Given the description of an element on the screen output the (x, y) to click on. 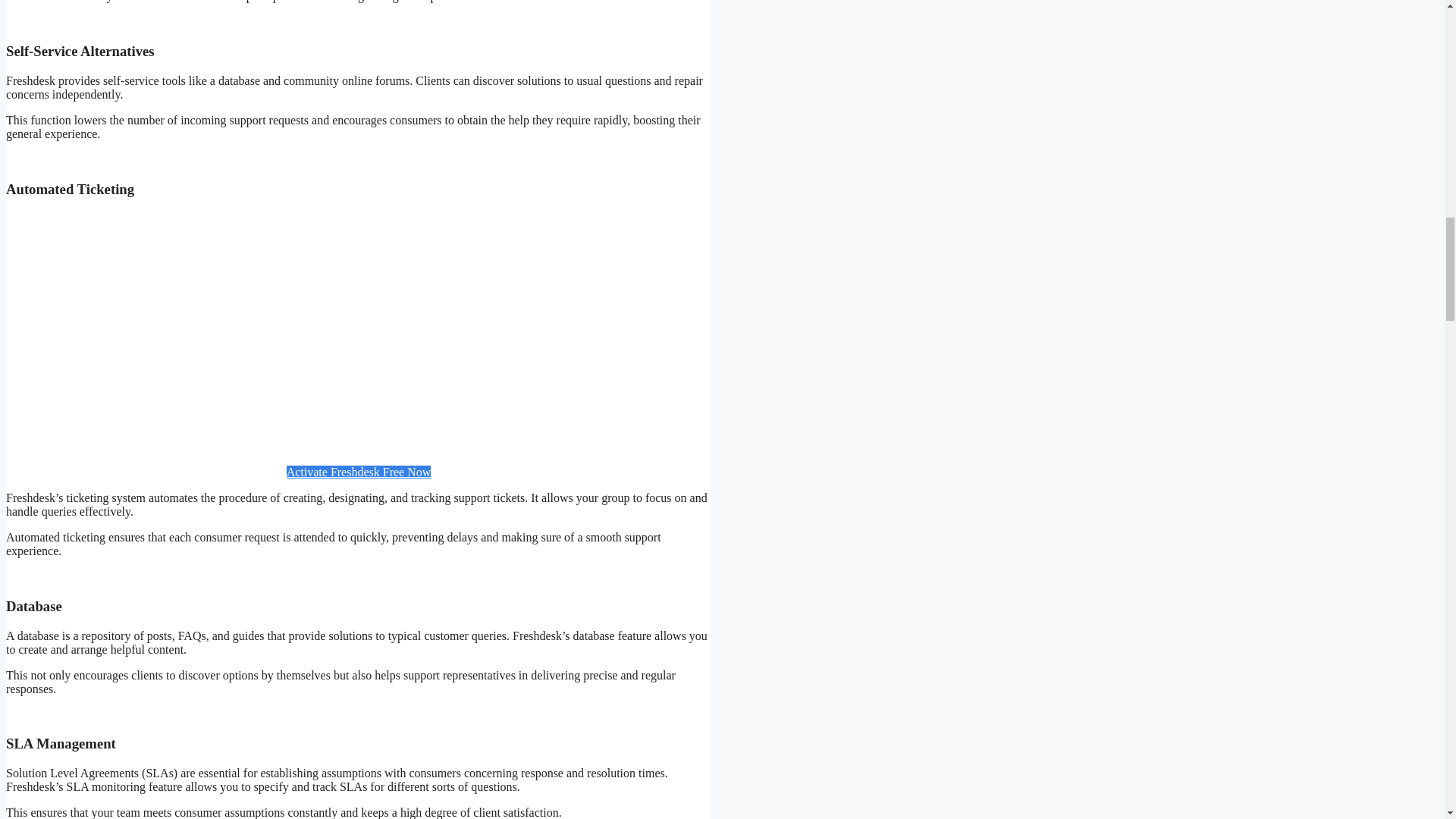
Activate Freshdesk Free Now (358, 472)
YouTube video player (358, 330)
